Given the description of an element on the screen output the (x, y) to click on. 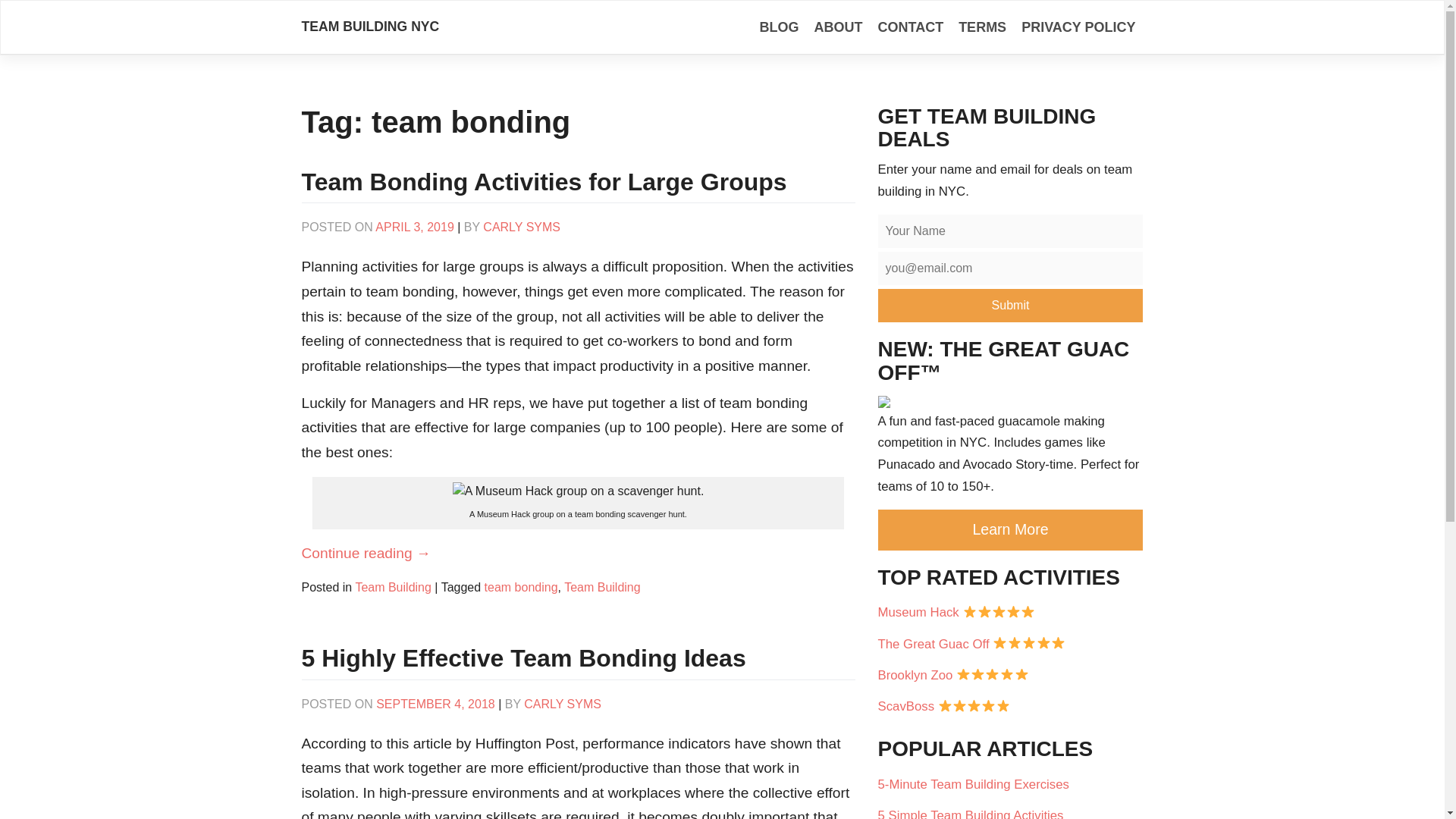
Team Bonding Activities for Large Groups (544, 181)
CARLY SYMS (521, 226)
About (837, 27)
5 Highly Effective Team Bonding Ideas (523, 657)
The Great Guac Off (1009, 643)
CONTACT (909, 27)
BLOG (778, 27)
ScavBoss (1009, 706)
Contact (909, 27)
Submit (1009, 305)
Team Building (392, 586)
SEPTEMBER 4, 2018 (435, 703)
5-Minute Team Building Exercises (1009, 784)
ABOUT (837, 27)
APRIL 3, 2019 (413, 226)
